Given the description of an element on the screen output the (x, y) to click on. 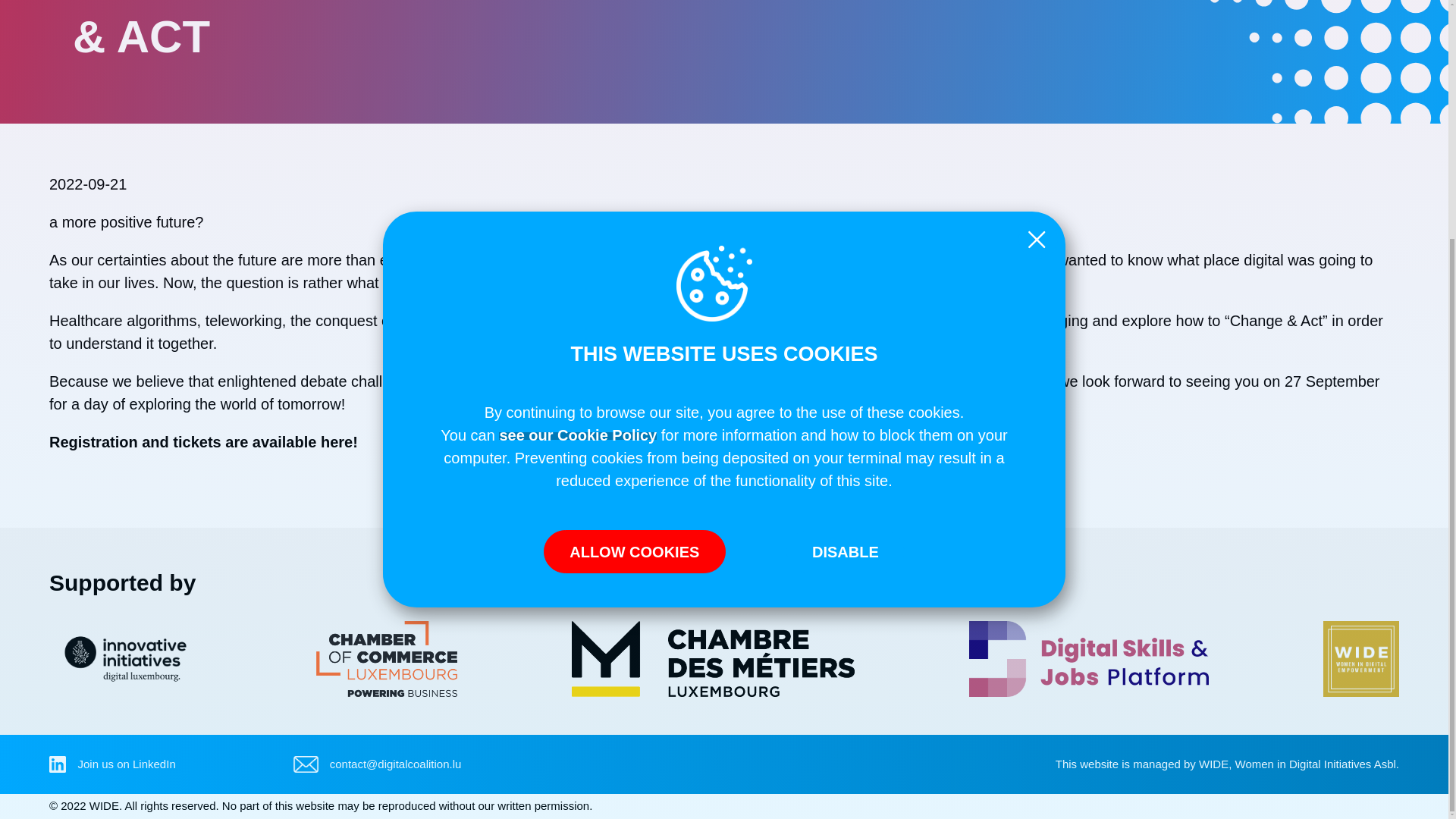
DISABLE (845, 219)
ALLOW COOKIES (634, 219)
Join us on LinkedIn (125, 763)
see our Cookie Policy (577, 103)
Registration and tickets are available here! (203, 442)
